Given the description of an element on the screen output the (x, y) to click on. 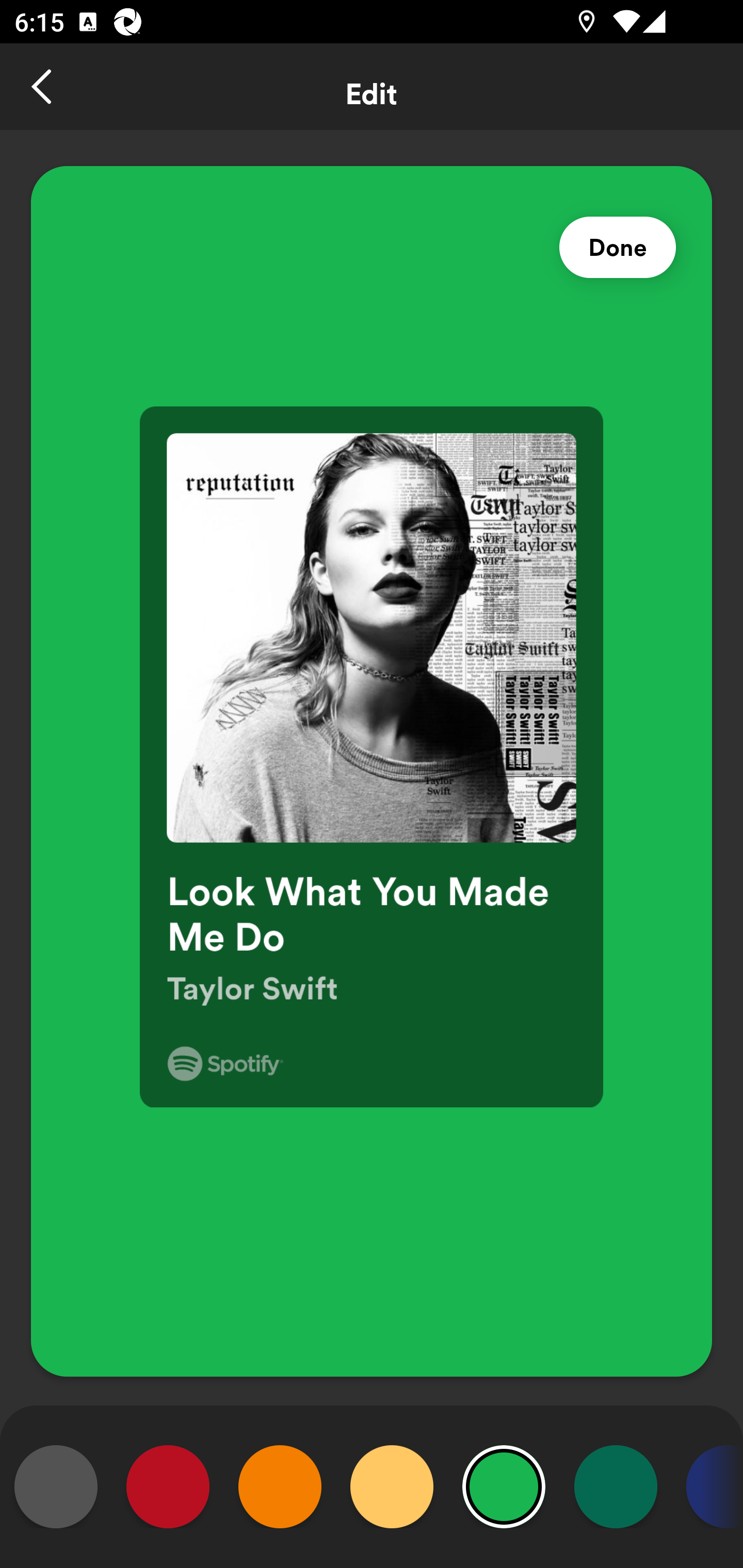
Close the Now Playing View (43, 86)
Done (617, 247)
